Given the description of an element on the screen output the (x, y) to click on. 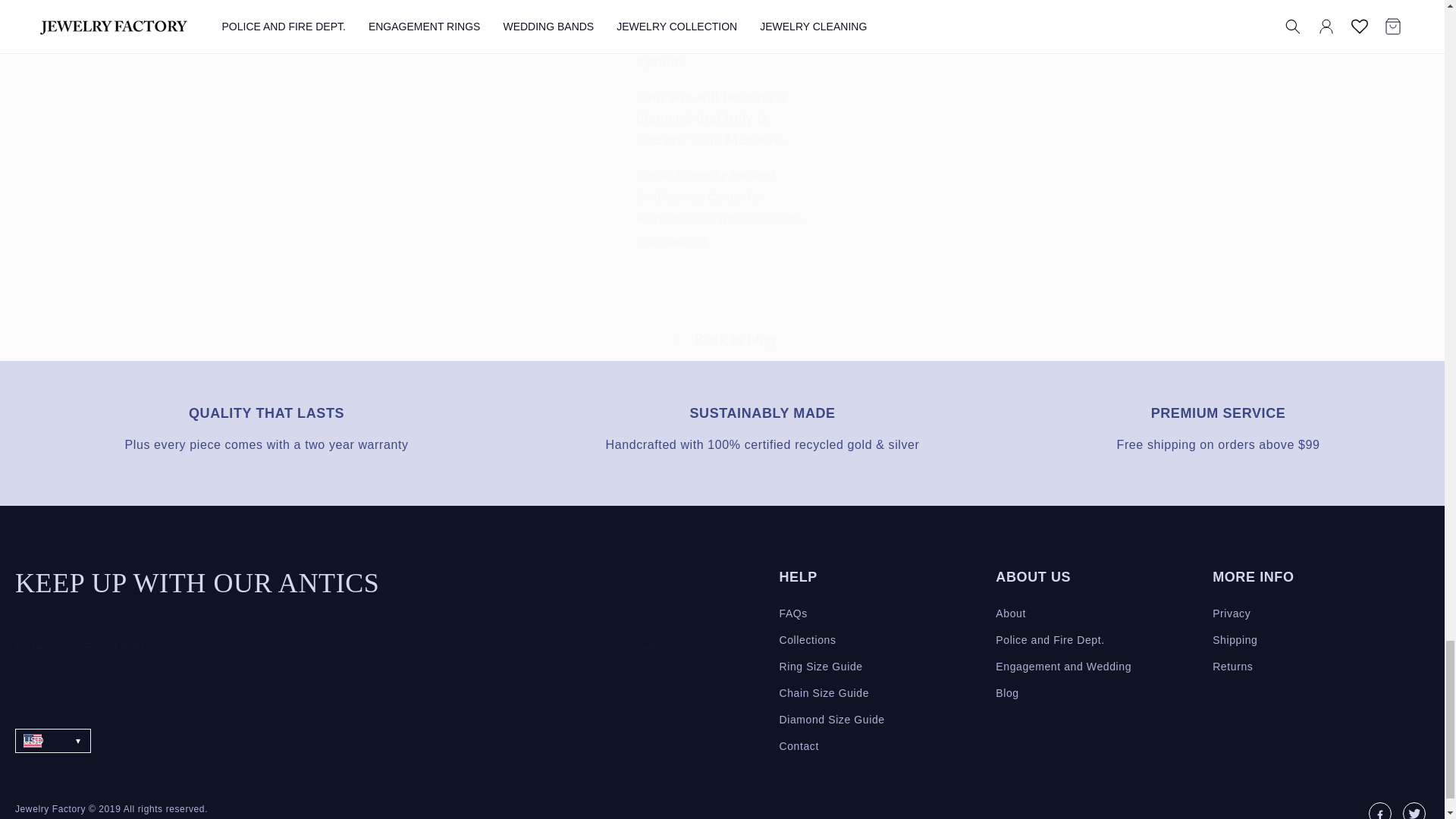
Enter Your Email Address (339, 648)
